Given the description of an element on the screen output the (x, y) to click on. 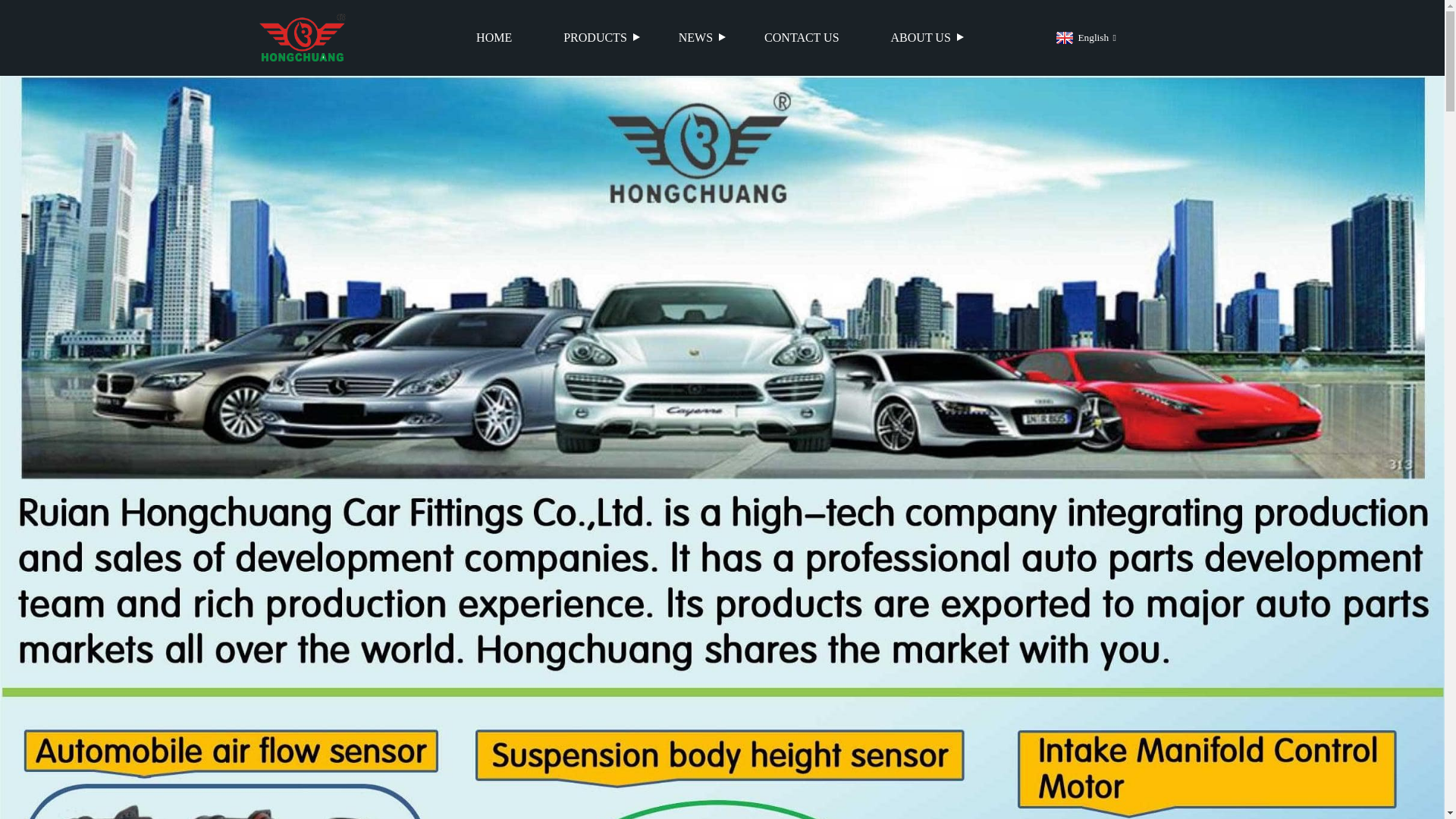
CONTACT US (801, 38)
PRODUCTS (594, 38)
English (1083, 37)
English (1083, 37)
